Given the description of an element on the screen output the (x, y) to click on. 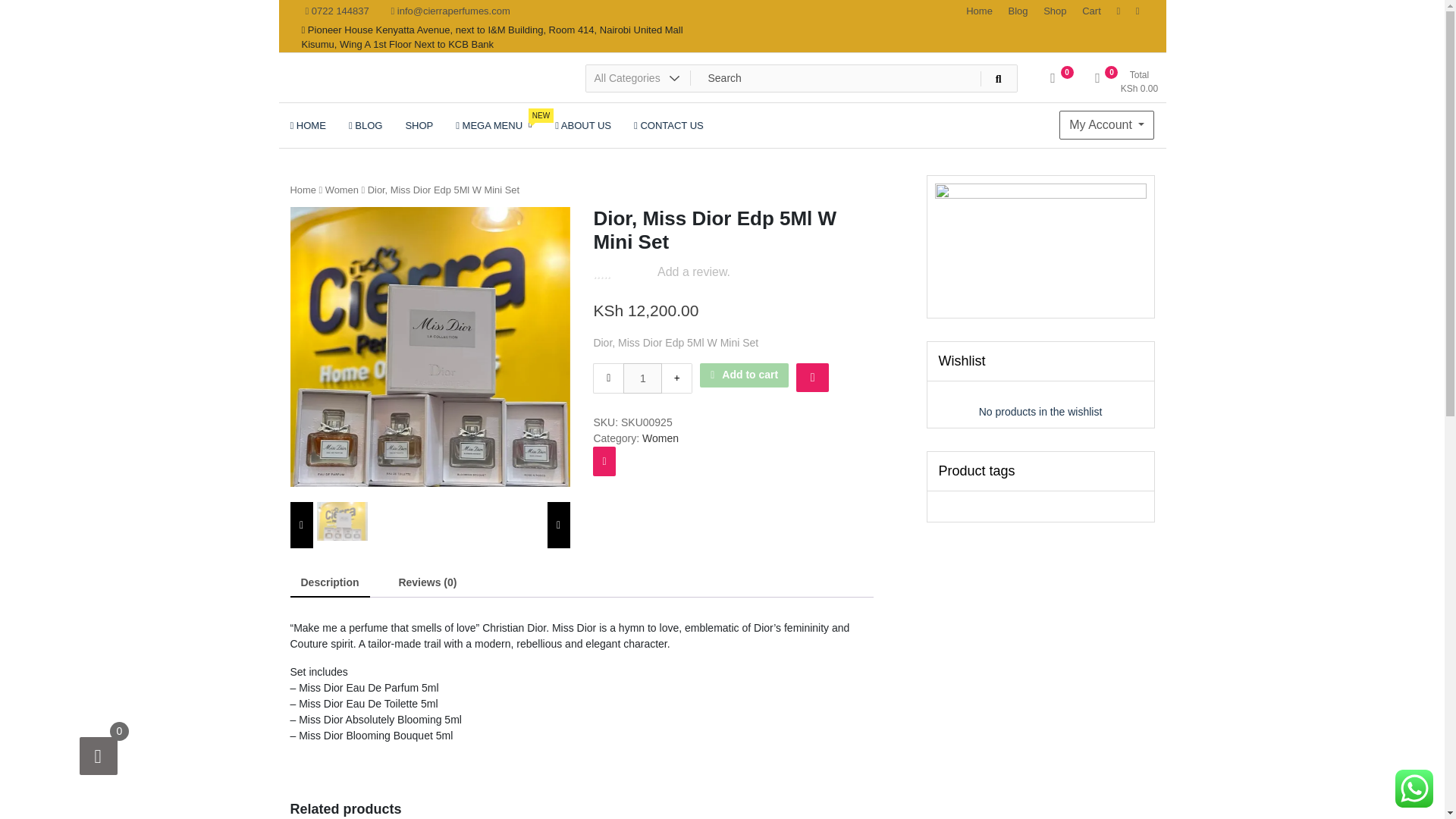
Dior, Miss Dior Edp 5ml W Mini Set (429, 346)
BLOG (365, 125)
1 (642, 378)
Cart (1091, 11)
Qty (642, 378)
Shop (1054, 11)
0722 144837 (336, 11)
Home (302, 189)
CONTACT US (668, 125)
My Account (1106, 124)
Cierra Perfumes (377, 94)
Search for: (801, 78)
0 (1053, 82)
Blog (1018, 11)
HOME (308, 125)
